Given the description of an element on the screen output the (x, y) to click on. 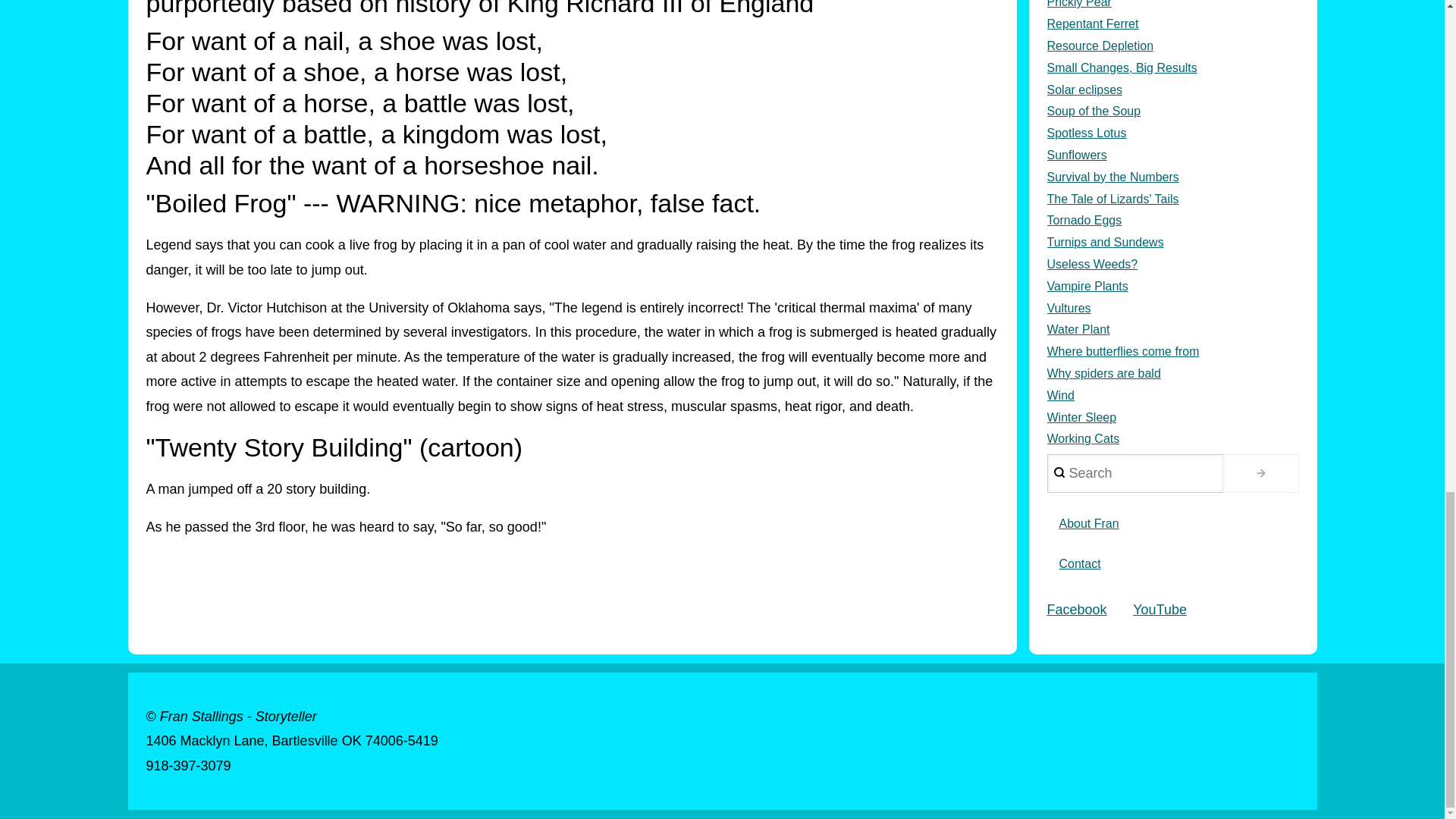
. (1260, 473)
Enter the terms you wish to search for. (1134, 473)
. (1260, 473)
